Given the description of an element on the screen output the (x, y) to click on. 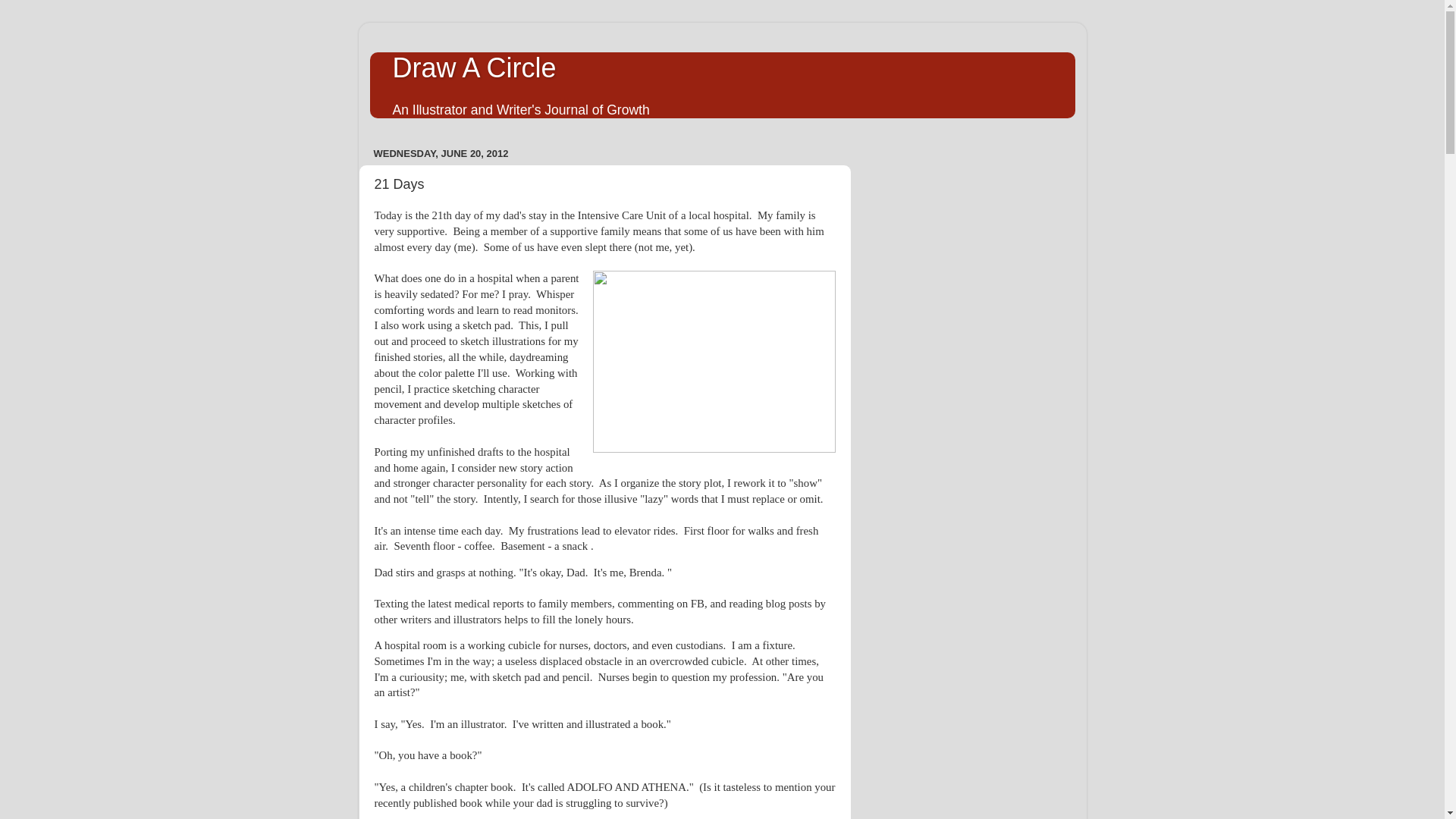
Draw A Circle (474, 67)
